Given the description of an element on the screen output the (x, y) to click on. 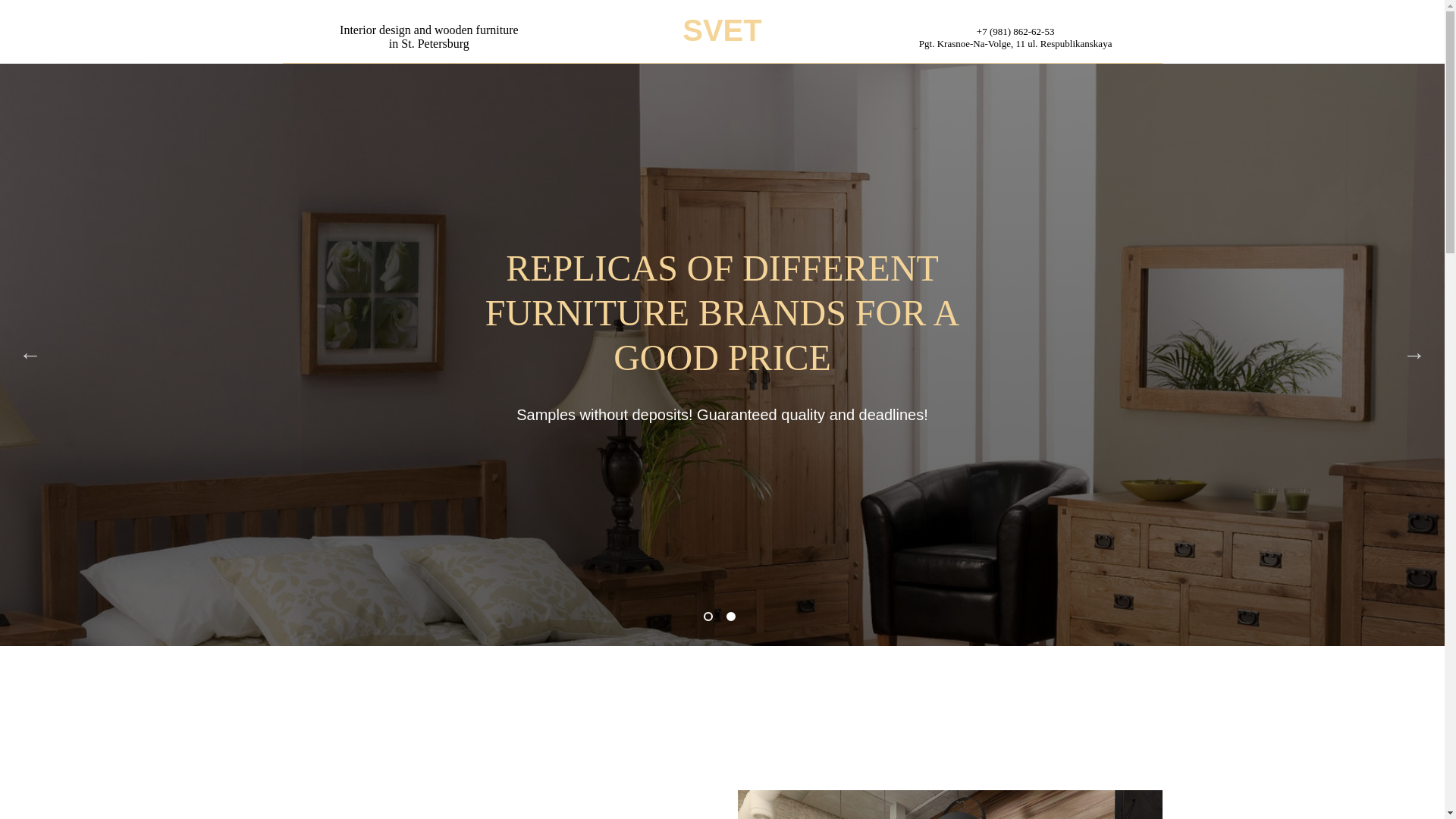
Previous (30, 354)
1 (711, 619)
Next (1414, 354)
2 (733, 619)
